Given the description of an element on the screen output the (x, y) to click on. 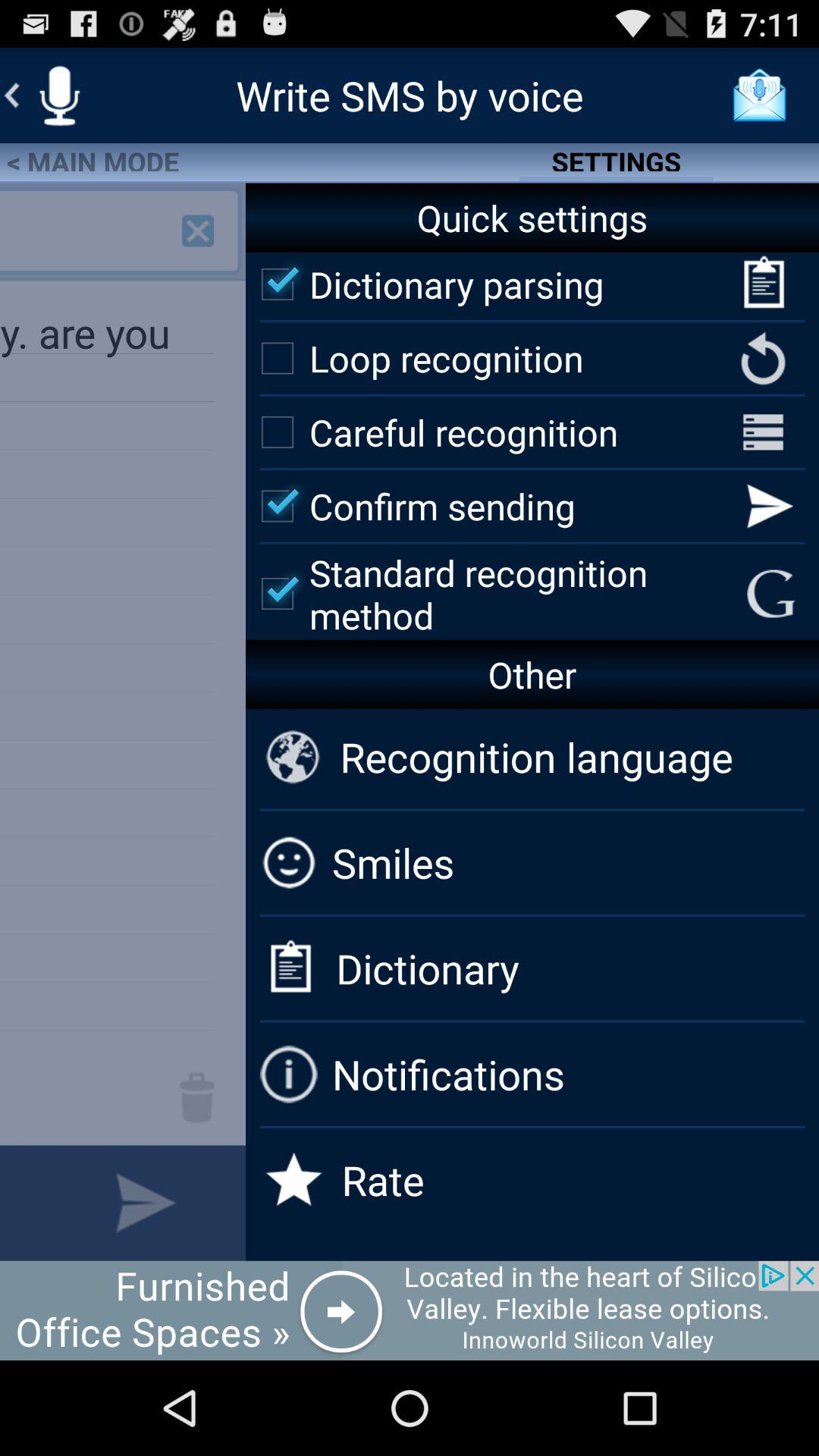
advertisement (409, 1310)
